Given the description of an element on the screen output the (x, y) to click on. 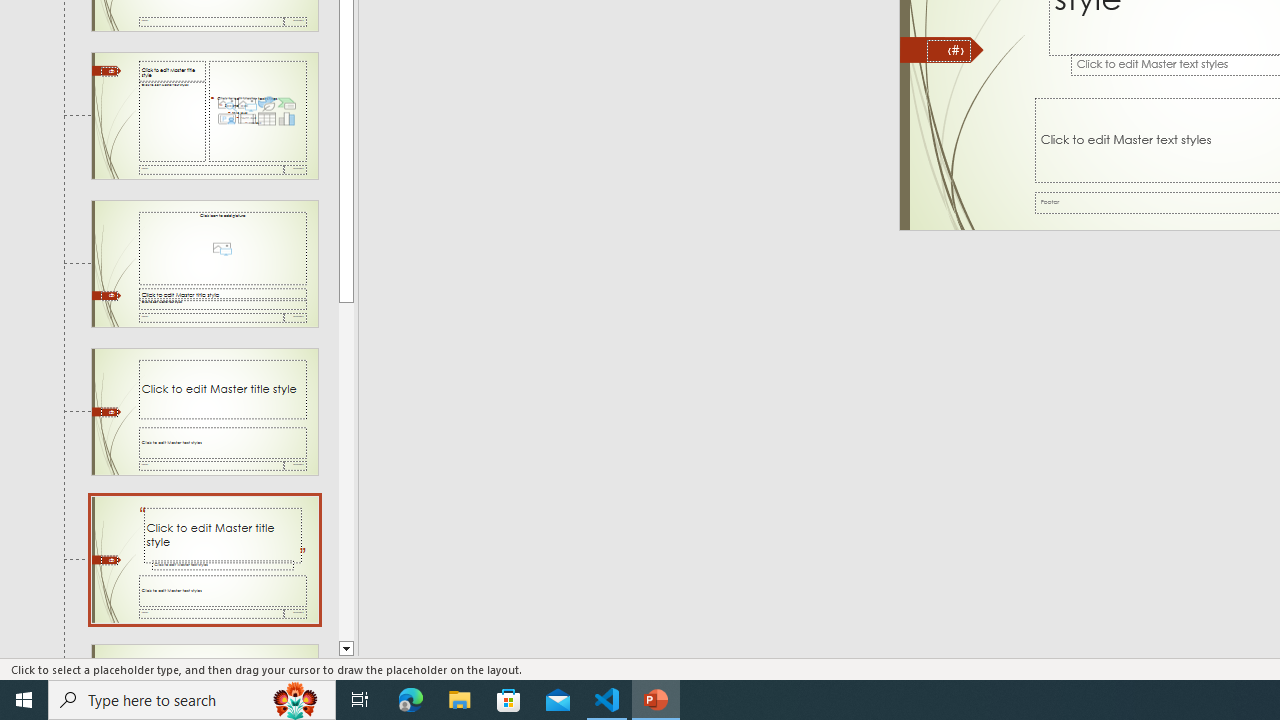
Slide Quote with Caption Layout: used by no slides (204, 559)
Slide Picture with Caption Layout: used by no slides (204, 263)
Slide Number (948, 50)
Slide Name Card Layout: used by no slides (204, 651)
Slide Title and Caption Layout: used by no slides (204, 412)
Freeform 11 (941, 49)
Slide Content with Caption Layout: used by no slides (204, 116)
